Given the description of an element on the screen output the (x, y) to click on. 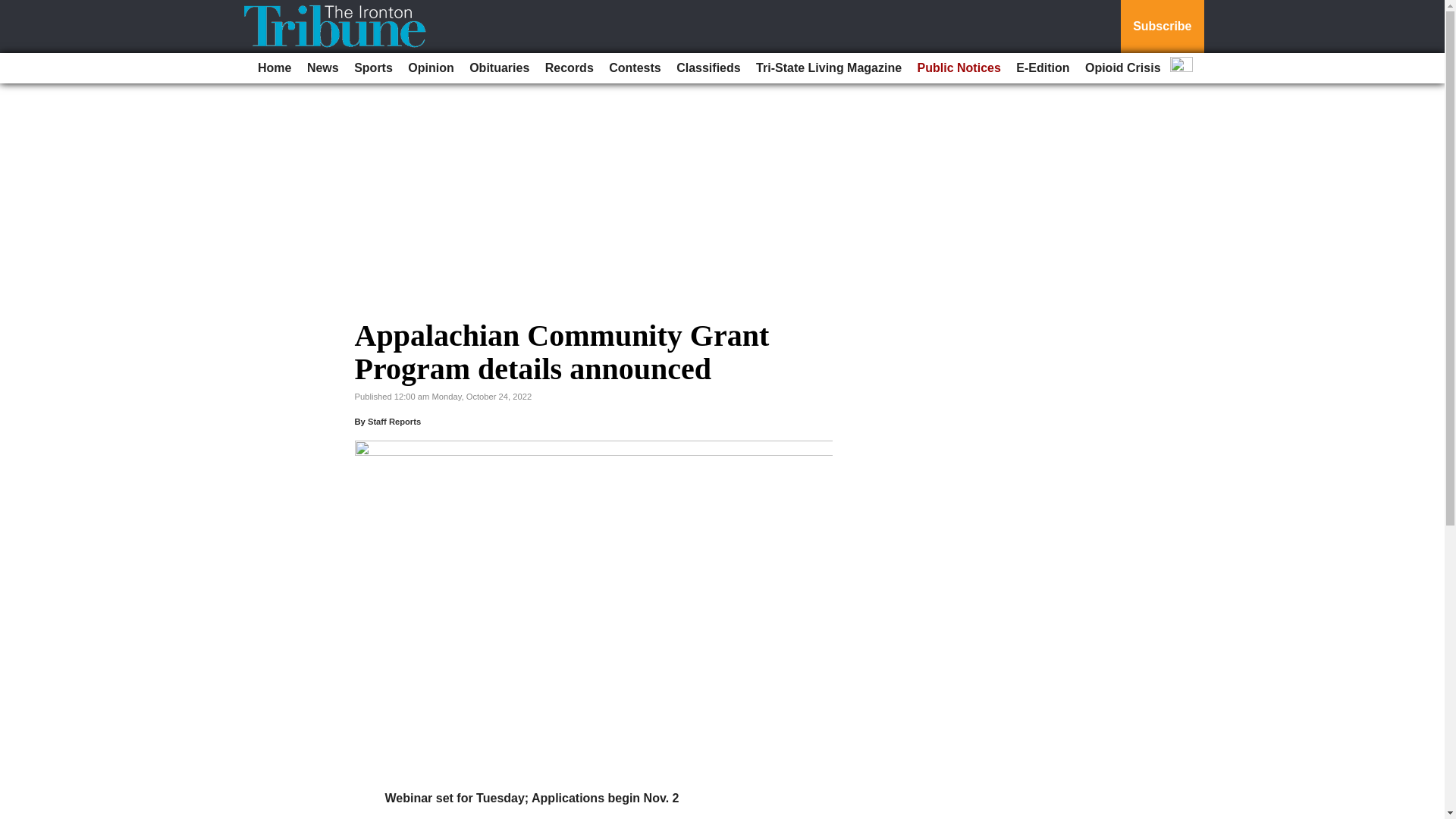
Public Notices (959, 68)
Contests (634, 68)
Opinion (430, 68)
Go (13, 9)
Classifieds (707, 68)
E-Edition (1042, 68)
Obituaries (499, 68)
Tri-State Living Magazine (828, 68)
Opioid Crisis (1122, 68)
Home (274, 68)
